Given the description of an element on the screen output the (x, y) to click on. 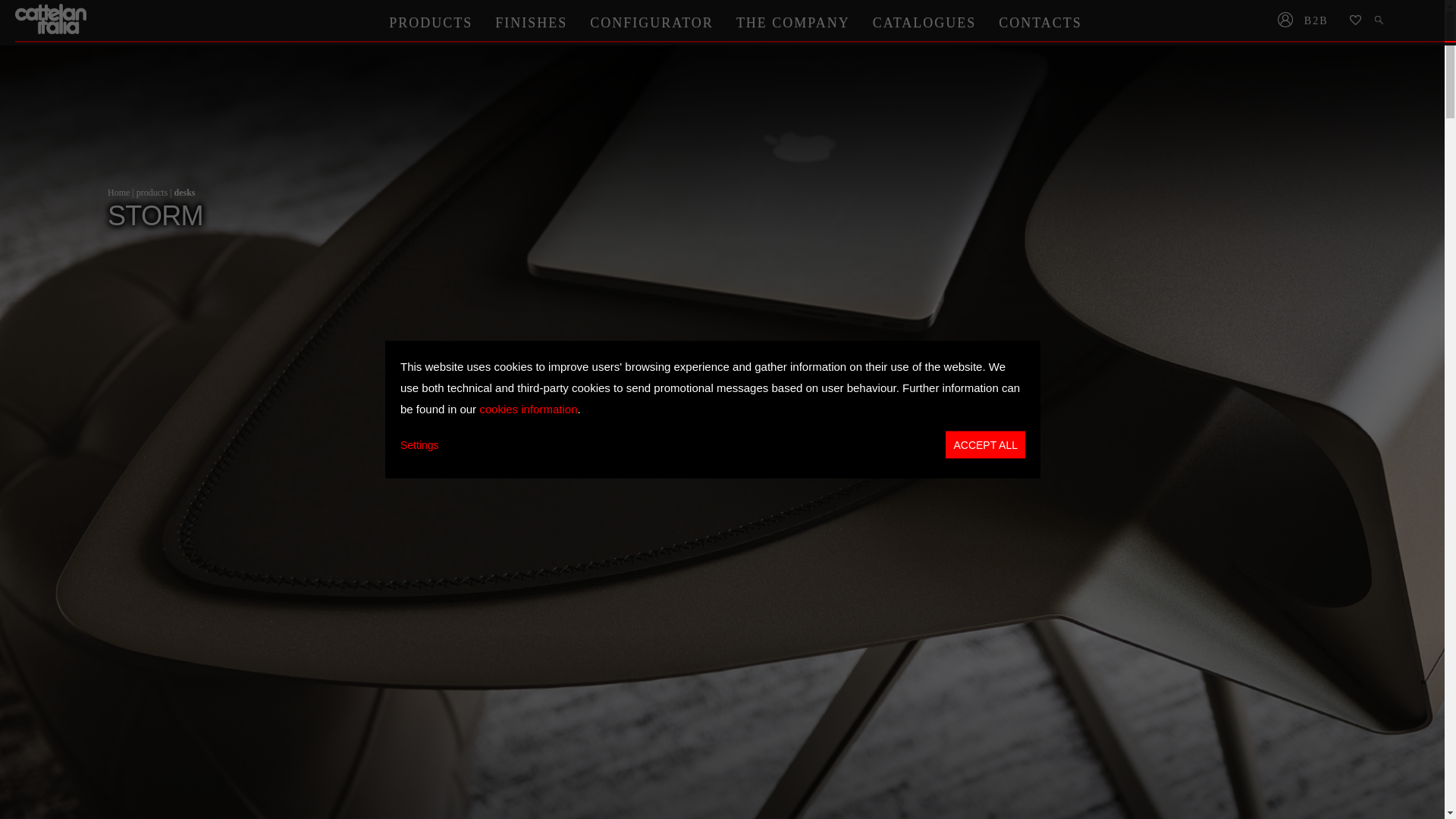
B2B (1321, 20)
ACCEPT ALL (984, 443)
Search... (1381, 20)
CONFIGURATOR (651, 22)
products (151, 192)
cookies information (527, 408)
Cookies information (527, 408)
FINISHES (530, 22)
DESKS (184, 192)
PRODUCTS (430, 22)
CATALOGUES (924, 22)
Cattelan Italia (52, 19)
CONTACTS (1040, 22)
products (151, 192)
Login (1285, 21)
